Given the description of an element on the screen output the (x, y) to click on. 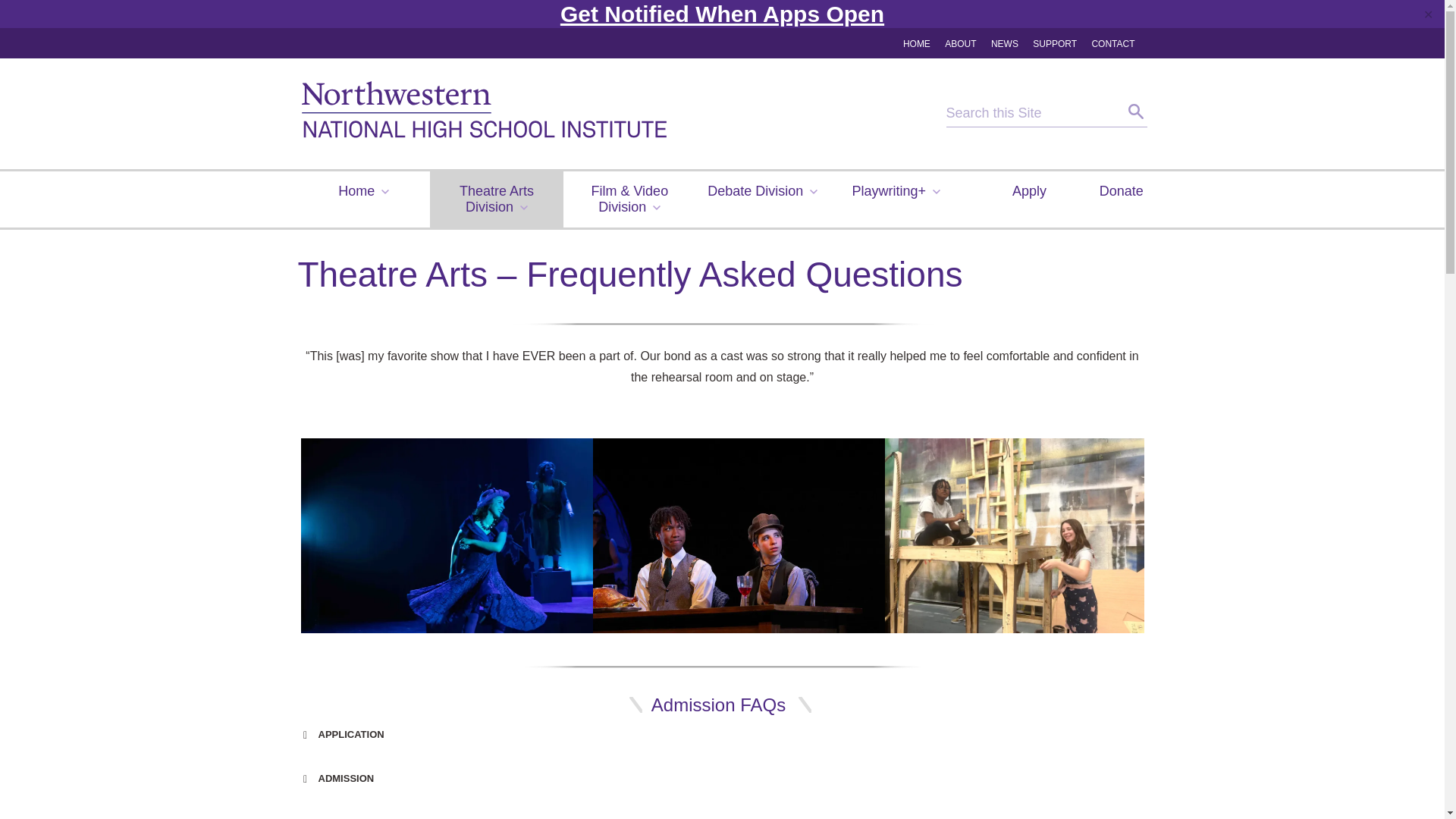
SUPPORT (1054, 43)
NEWS (1004, 43)
HOME (916, 43)
ABOUT (959, 43)
CONTACT (1112, 43)
Get Notified When Apps Open (721, 13)
